Given the description of an element on the screen output the (x, y) to click on. 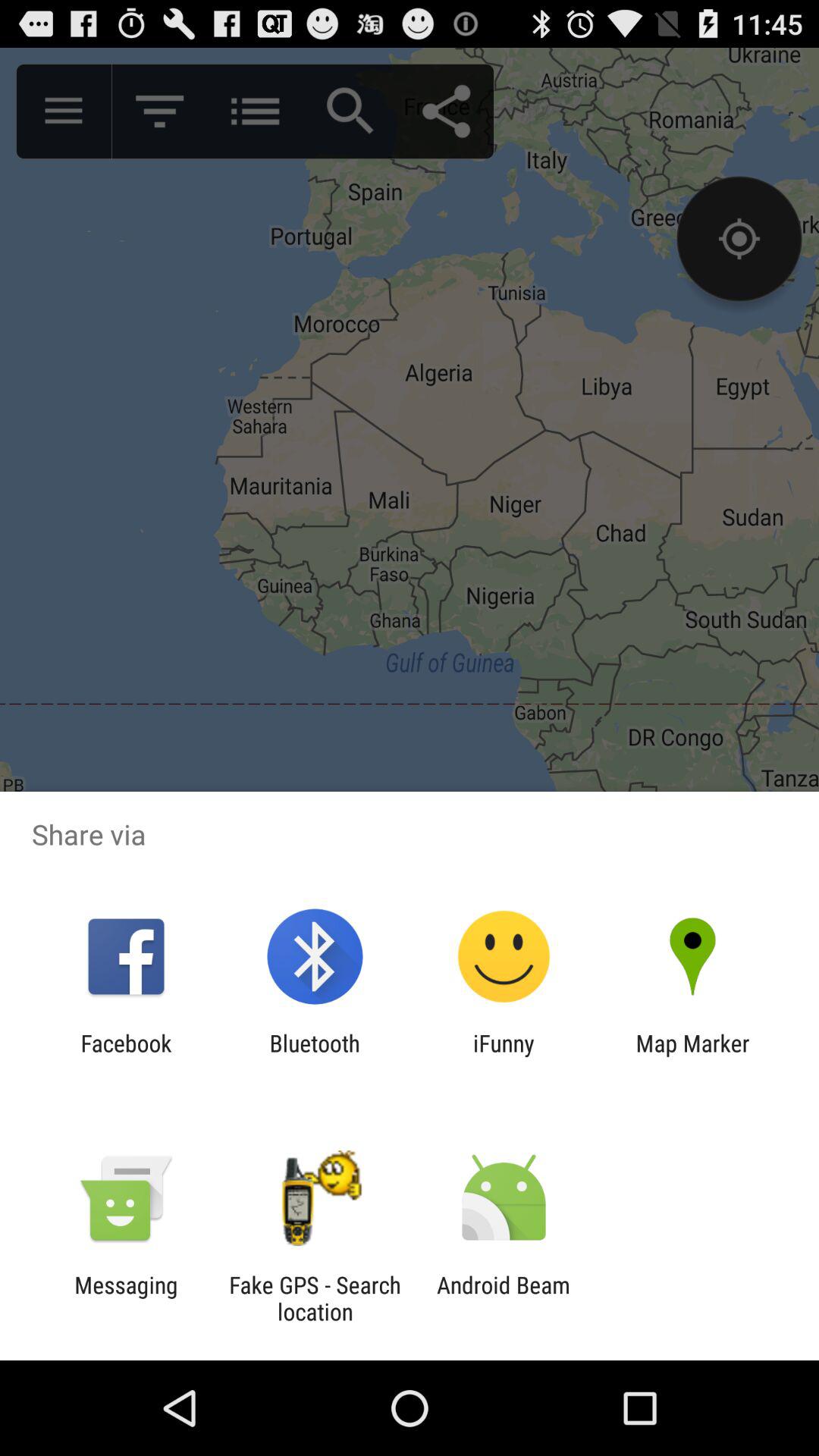
click the app next to messaging (314, 1298)
